Given the description of an element on the screen output the (x, y) to click on. 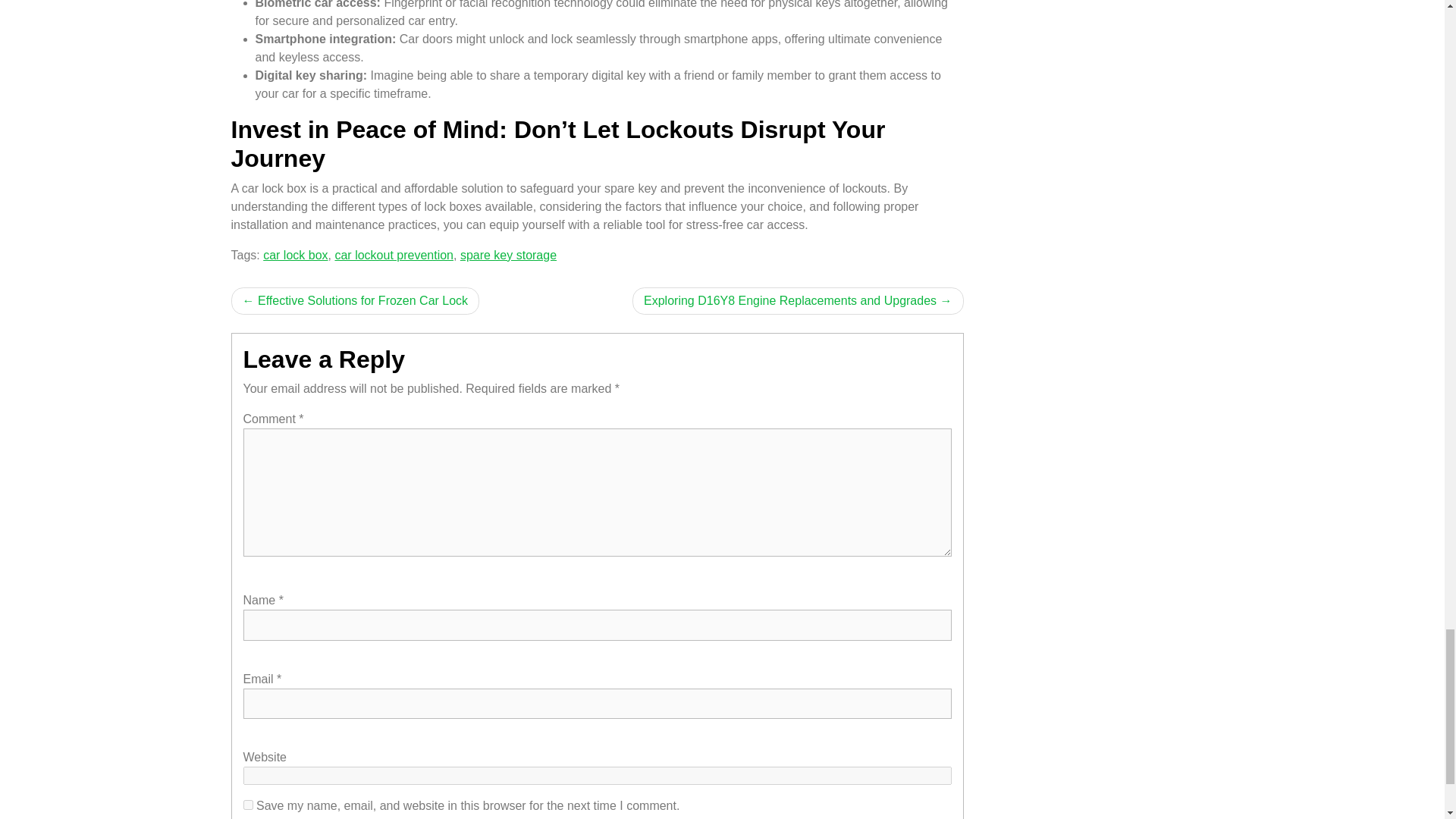
car lock box (295, 254)
Effective Solutions for Frozen Car Lock (354, 300)
Exploring D16Y8 Engine Replacements and Upgrades (796, 300)
car lockout prevention (393, 254)
yes (247, 804)
spare key storage (508, 254)
